Given the description of an element on the screen output the (x, y) to click on. 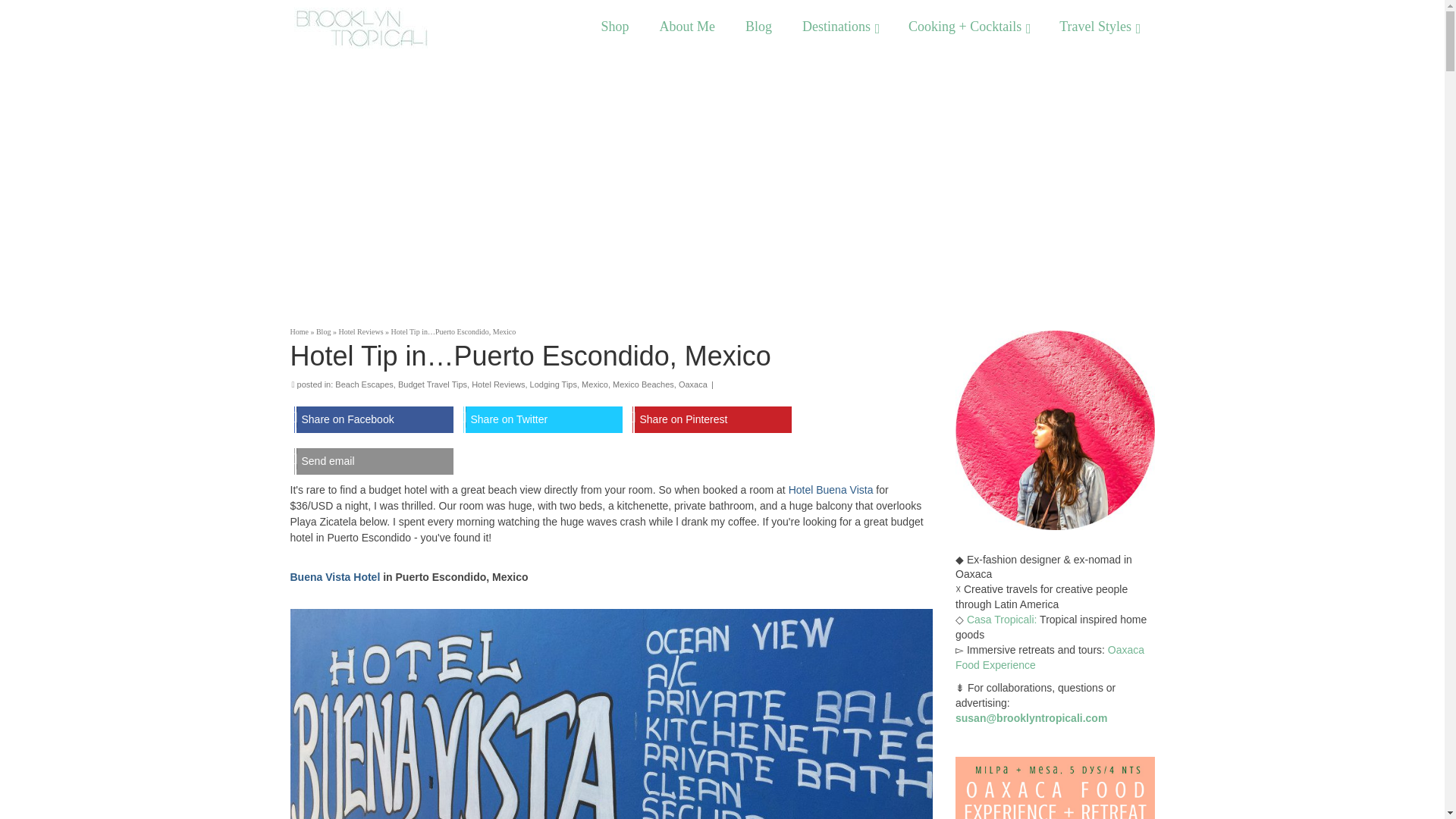
About Me (687, 26)
Shop (614, 26)
Share it on Email (373, 461)
Share on Facebook (373, 419)
Destinations (840, 26)
Share on Pinterest (711, 419)
Blog (758, 26)
Brooklyn Tropicali (428, 27)
Share on Twitter (544, 419)
